Given the description of an element on the screen output the (x, y) to click on. 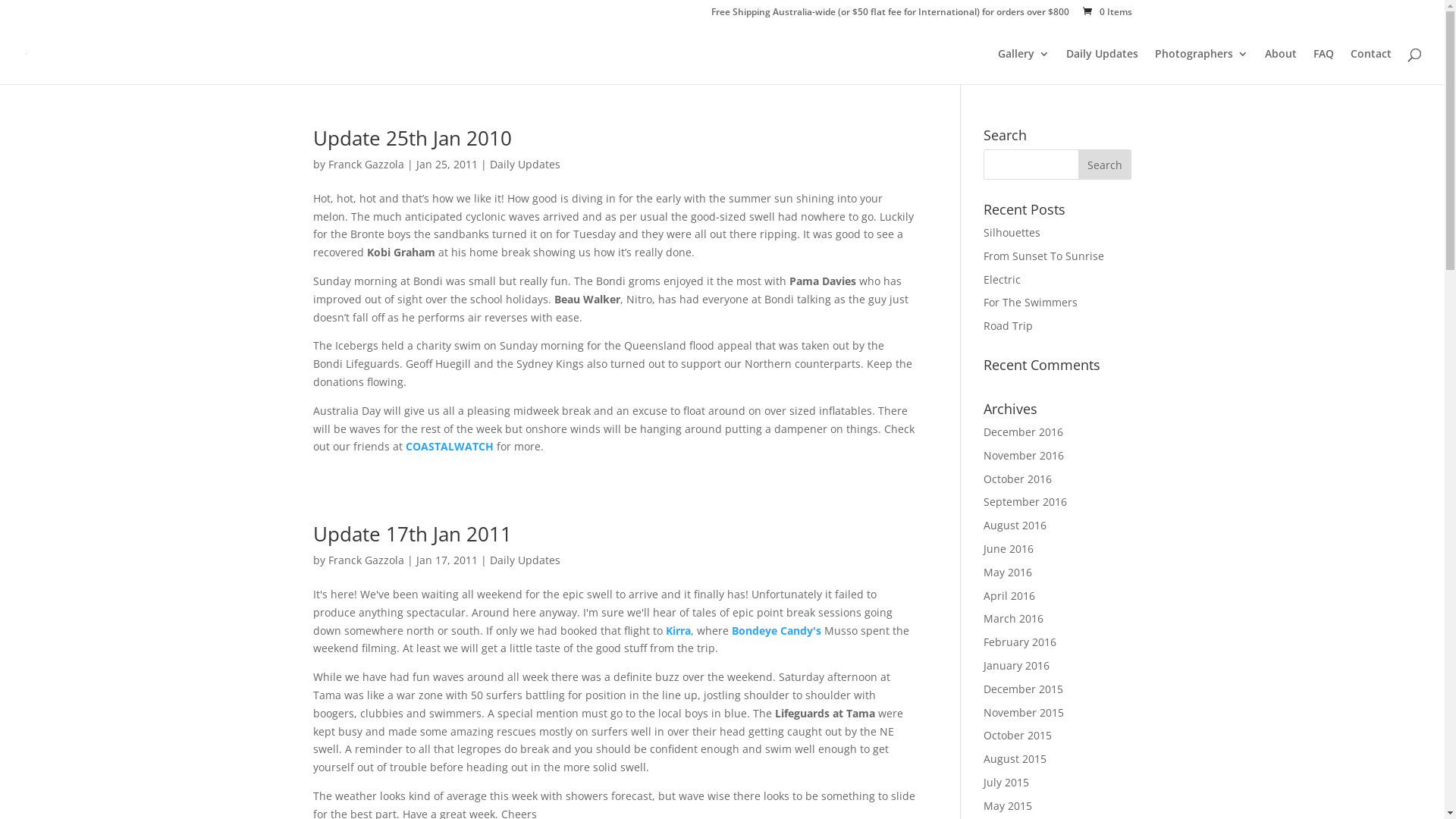
May 2016 Element type: text (1007, 571)
For The Swimmers Element type: text (1030, 301)
Contact Element type: text (1370, 66)
November 2016 Element type: text (1023, 455)
November 2015 Element type: text (1023, 712)
August 2015 Element type: text (1014, 758)
FAQ Element type: text (1323, 66)
October 2015 Element type: text (1017, 735)
Update 25th Jan 2010 Element type: text (411, 137)
June 2016 Element type: text (1008, 548)
Electric Element type: text (1001, 279)
December 2016 Element type: text (1023, 431)
COASTALWATCH Element type: text (448, 446)
Gallery Element type: text (1023, 66)
Daily Updates Element type: text (524, 559)
Silhouettes Element type: text (1011, 232)
Search Element type: text (1104, 164)
July 2015 Element type: text (1006, 782)
August 2016 Element type: text (1014, 524)
Kirra Element type: text (677, 630)
Road Trip Element type: text (1007, 325)
About Element type: text (1280, 66)
0 Items Element type: text (1105, 11)
Photographers Element type: text (1201, 66)
September 2016 Element type: text (1024, 501)
December 2015 Element type: text (1023, 688)
Update 17th Jan 2011 Element type: text (411, 533)
Bondeye Candy's Element type: text (775, 630)
January 2016 Element type: text (1016, 665)
Daily Updates Element type: text (1102, 66)
October 2016 Element type: text (1017, 478)
Franck Gazzola Element type: text (365, 559)
April 2016 Element type: text (1009, 595)
May 2015 Element type: text (1007, 805)
Franck Gazzola Element type: text (365, 163)
March 2016 Element type: text (1013, 618)
Daily Updates Element type: text (524, 163)
February 2016 Element type: text (1019, 641)
From Sunset To Sunrise Element type: text (1043, 255)
